Given the description of an element on the screen output the (x, y) to click on. 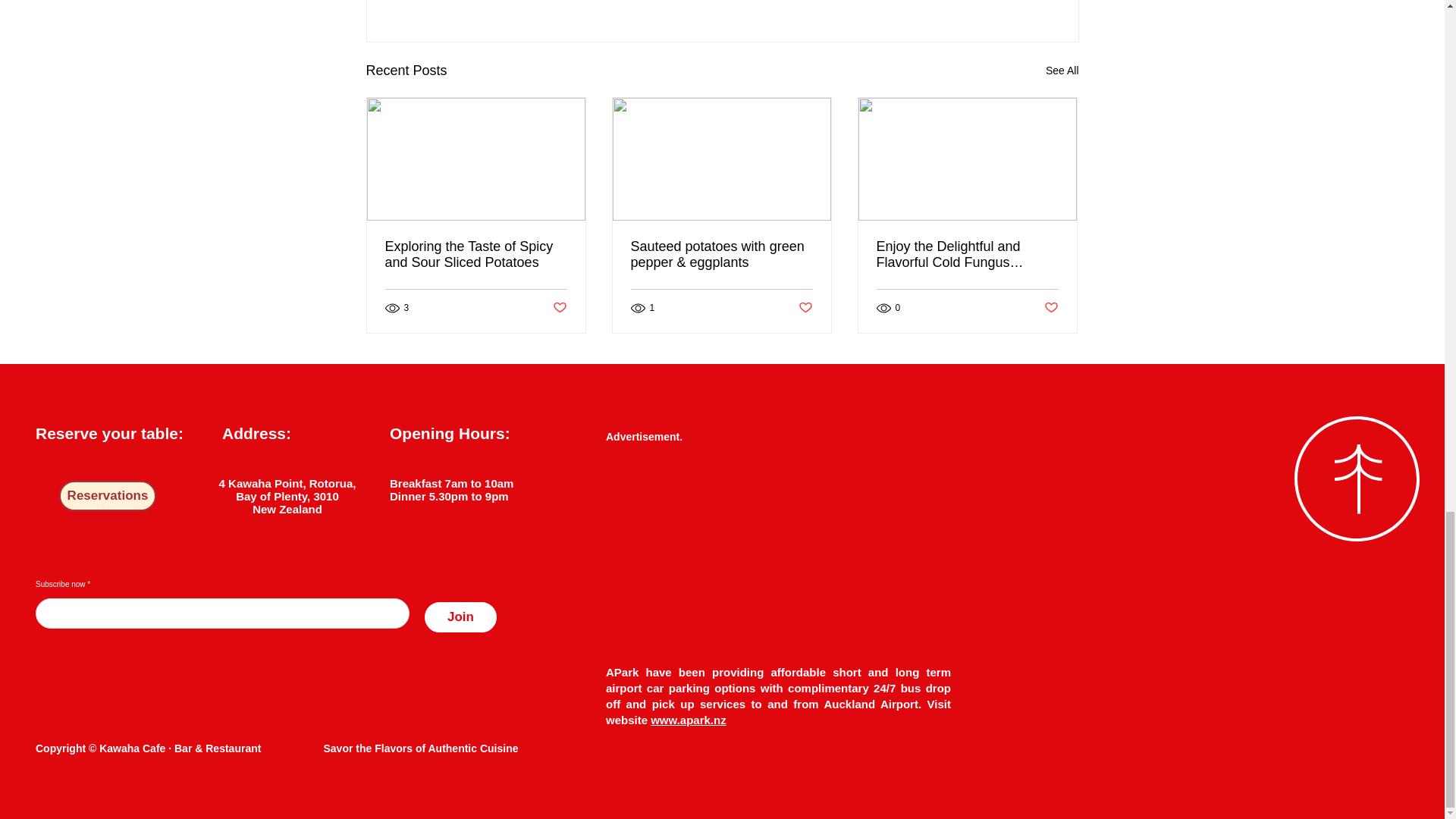
Post not marked as liked (1050, 308)
Post not marked as liked (804, 308)
Join (460, 616)
Post not marked as liked (558, 308)
Reservations (107, 495)
www.apark.nz (687, 719)
4 Kawaha Point, Rotorua, (287, 482)
See All (1061, 70)
Savor the Flavors of Authentic Cuisine (420, 748)
